Given the description of an element on the screen output the (x, y) to click on. 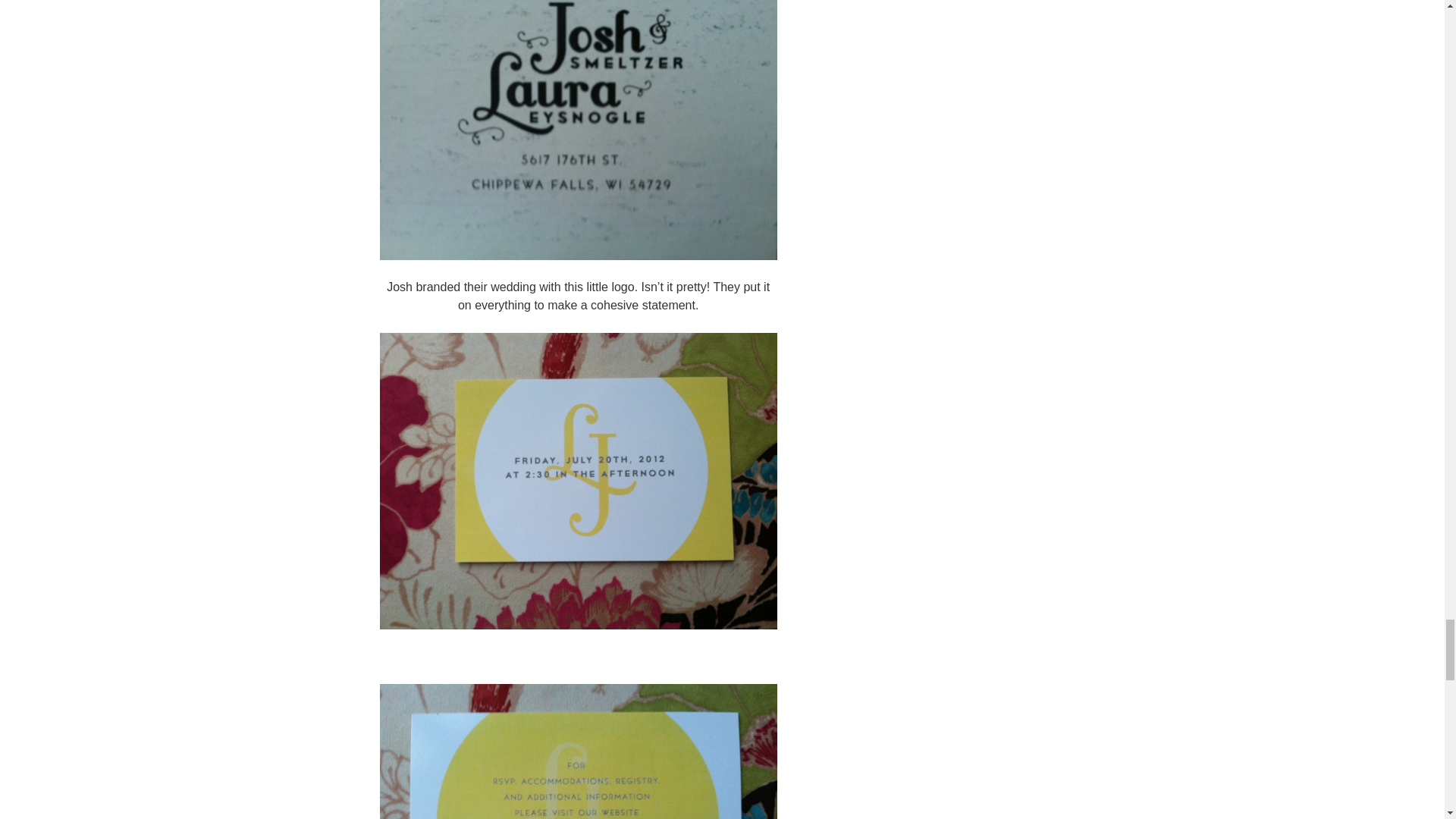
wedding logo (577, 130)
front side (577, 480)
